Given the description of an element on the screen output the (x, y) to click on. 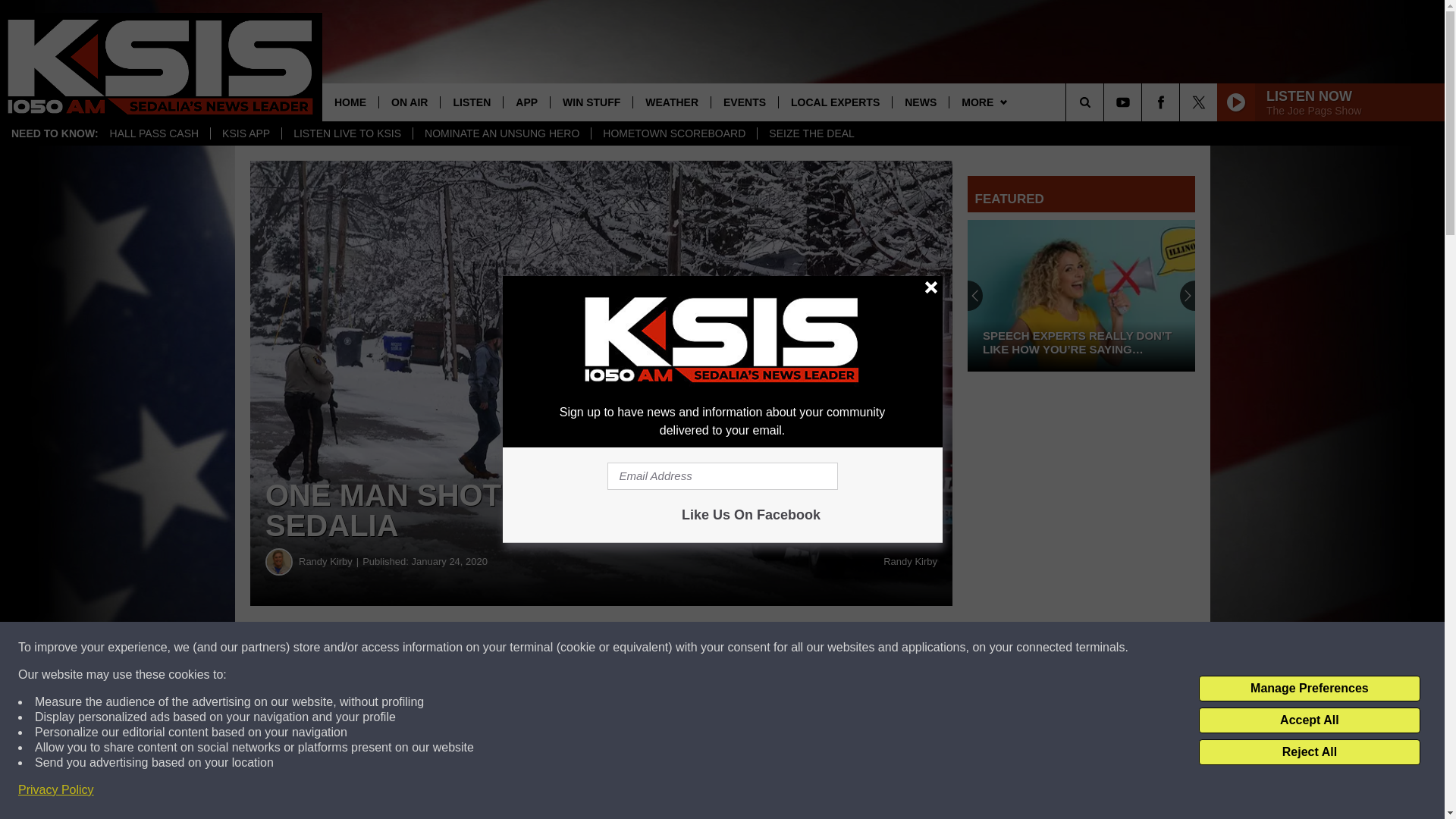
Email Address (722, 475)
SEARCH (1106, 102)
Reject All (1309, 751)
SEIZE THE DEAL (811, 133)
WEATHER (670, 102)
Manage Preferences (1309, 688)
NOMINATE AN UNSUNG HERO (501, 133)
Accept All (1309, 720)
Share on Twitter (741, 647)
KSIS APP (245, 133)
HOMETOWN SCOREBOARD (674, 133)
Privacy Policy (55, 789)
APP (526, 102)
HALL PASS CASH (155, 133)
Share on Facebook (460, 647)
